Given the description of an element on the screen output the (x, y) to click on. 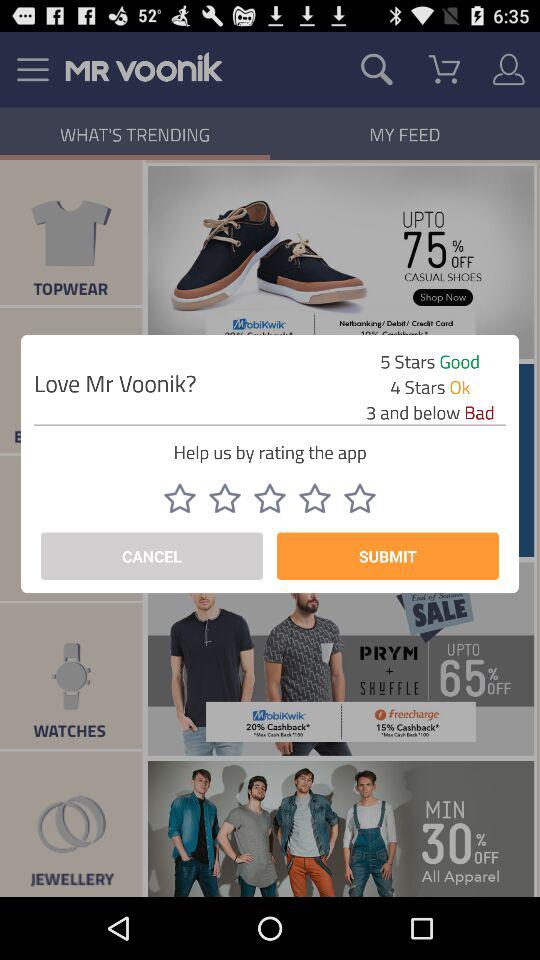
click icon below help us by (179, 498)
